Given the description of an element on the screen output the (x, y) to click on. 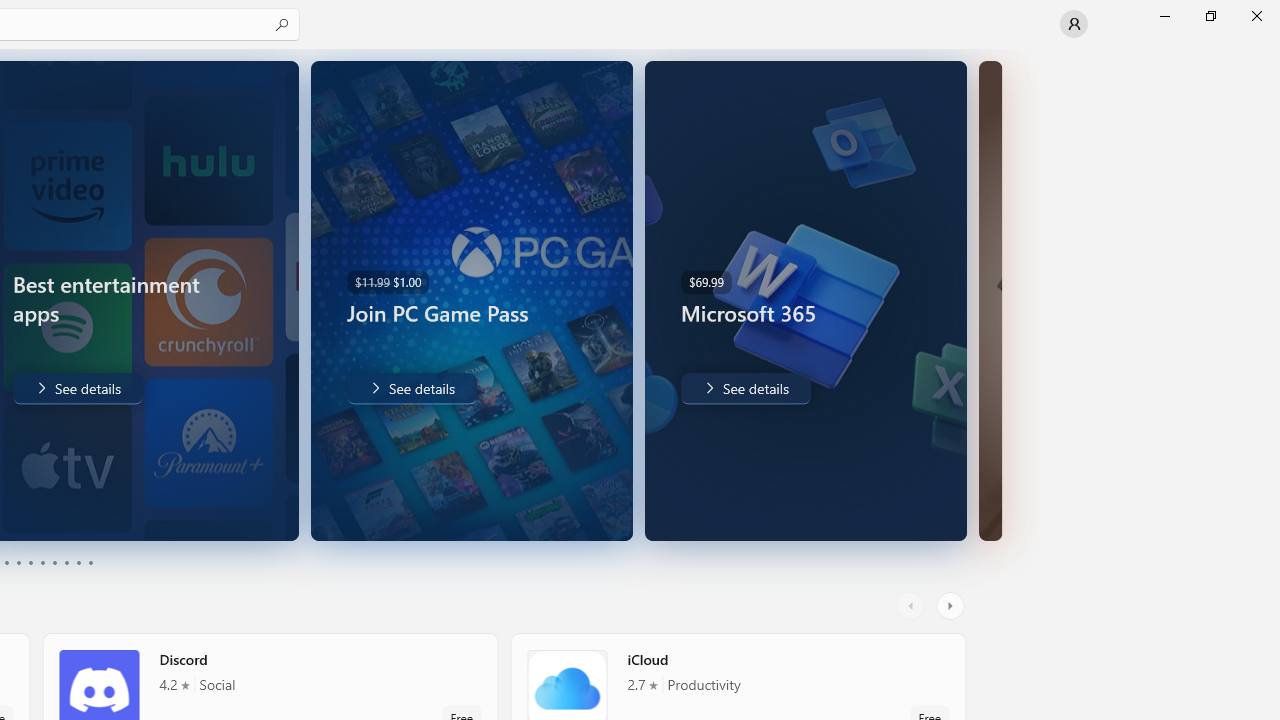
Page 9 (77, 562)
Restore Microsoft Store (1210, 15)
Page 6 (41, 562)
